Given the description of an element on the screen output the (x, y) to click on. 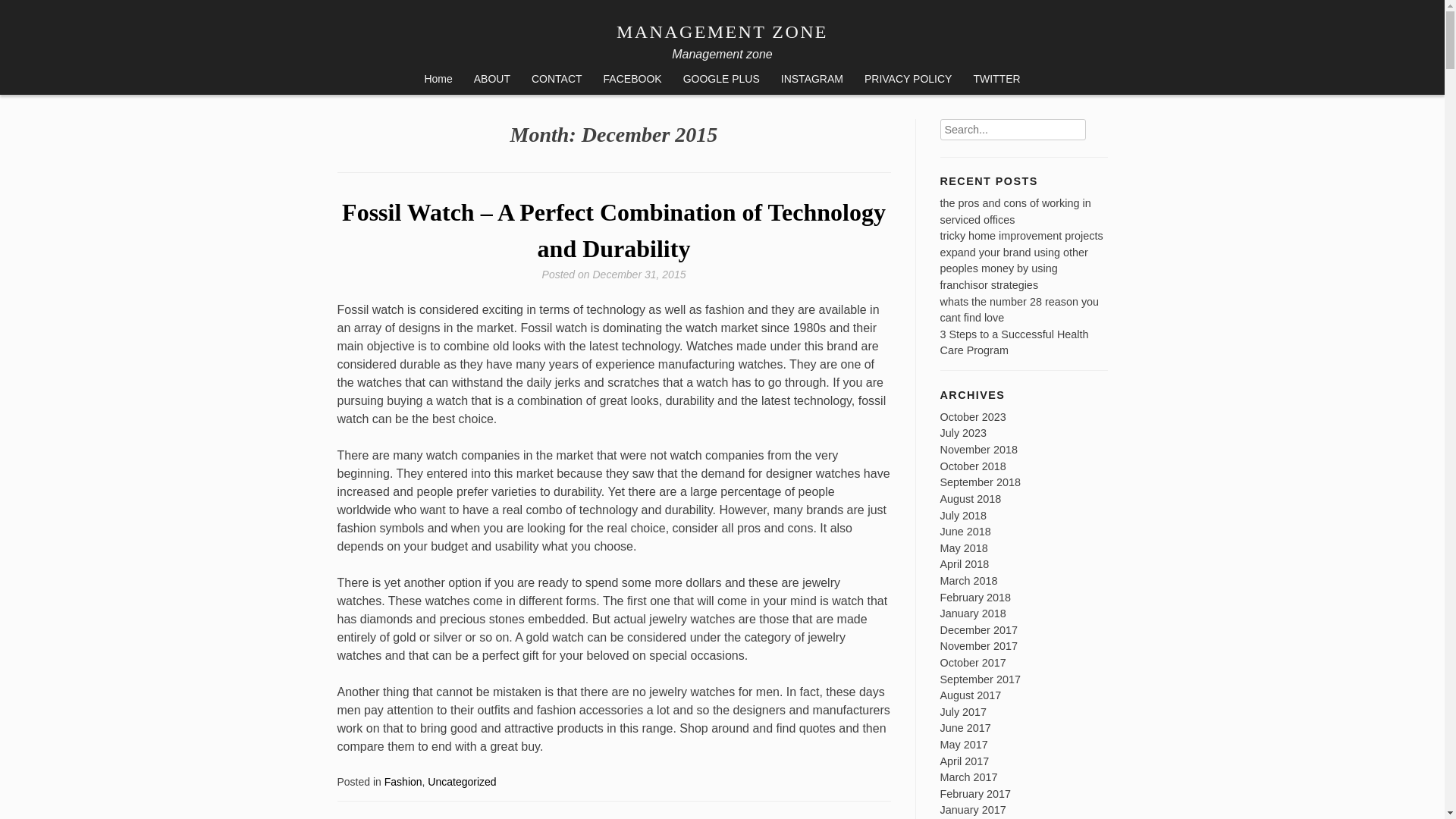
GOOGLE PLUS (721, 80)
Search (1095, 123)
CONTACT (556, 80)
FACEBOOK (632, 80)
Home (438, 80)
ABOUT (492, 80)
Search for: (1013, 129)
MANAGEMENT ZONE (721, 31)
PRIVACY POLICY (907, 80)
Search (1095, 123)
December 31, 2015 (638, 274)
TWITTER (996, 80)
Fashion (403, 781)
INSTAGRAM (811, 80)
